Given the description of an element on the screen output the (x, y) to click on. 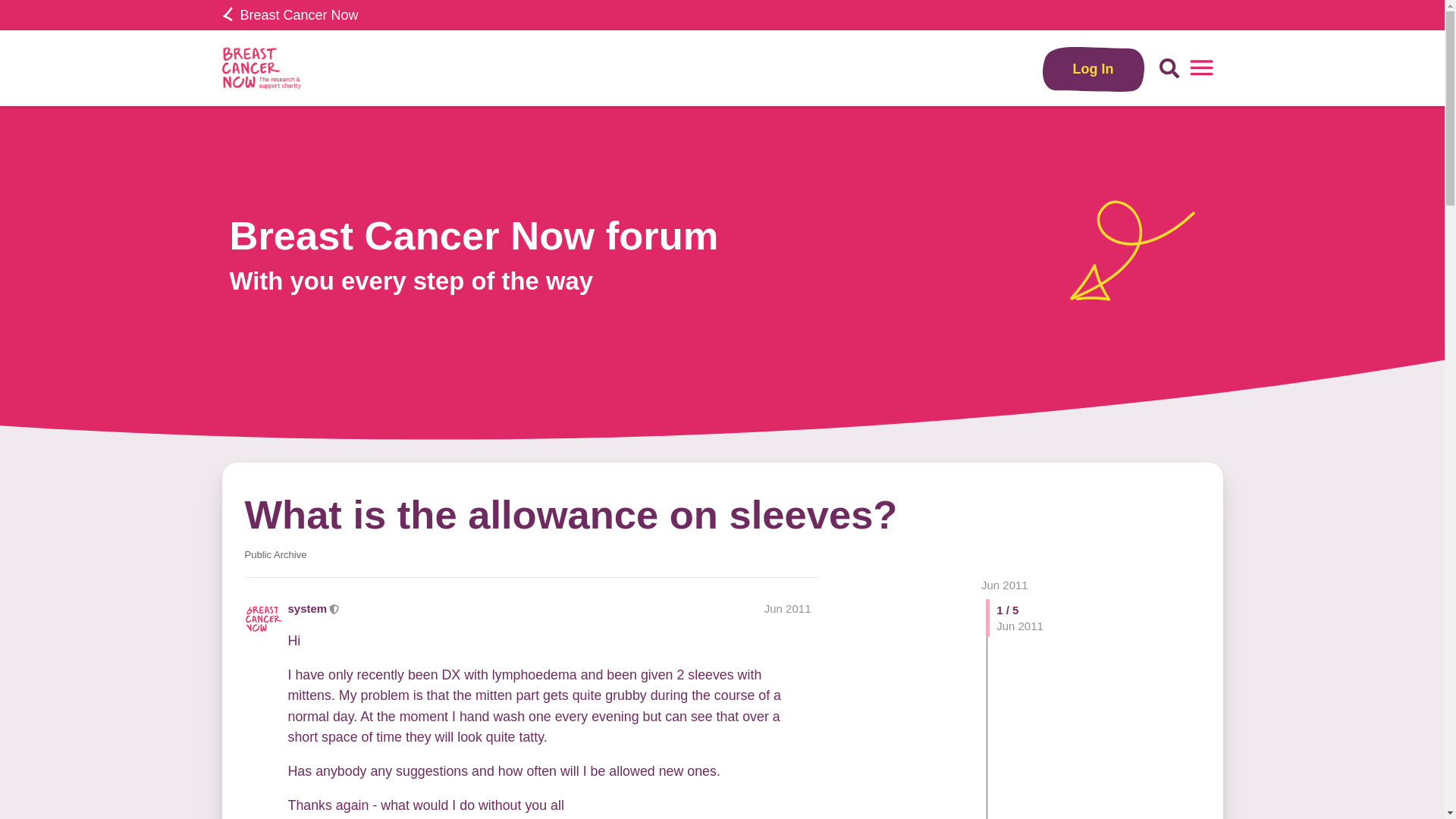
Jun 2011 (1004, 584)
Post date (787, 608)
Search (1169, 68)
What is the allowance on sleeves? (570, 514)
This user is a moderator (334, 608)
Jun 2011 (787, 608)
Breast Cancer Now (289, 15)
Archived posts which are available to view. (274, 554)
Log In (1093, 68)
menu (1201, 67)
Jun 2011 (1004, 584)
Public Archive (274, 554)
system (307, 608)
